Given the description of an element on the screen output the (x, y) to click on. 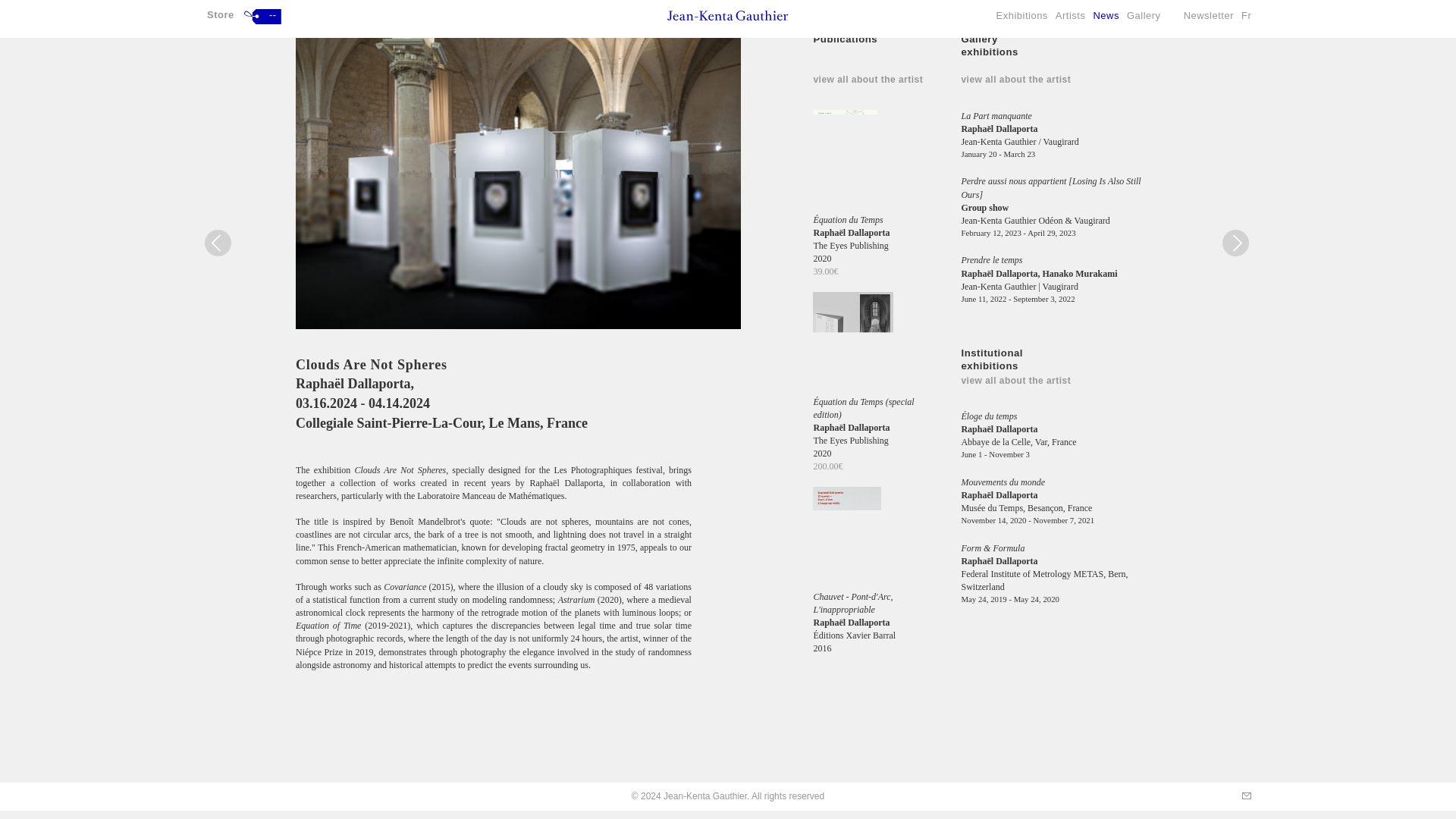
Exhibitions (1025, 7)
Gallery (1147, 7)
-- (262, 6)
Newsletter (1212, 7)
News (1109, 7)
Fr (1250, 7)
Subscribe to JKG newsletter (1212, 7)
Store (220, 7)
Exhibitions (1025, 7)
News (1109, 7)
